Given the description of an element on the screen output the (x, y) to click on. 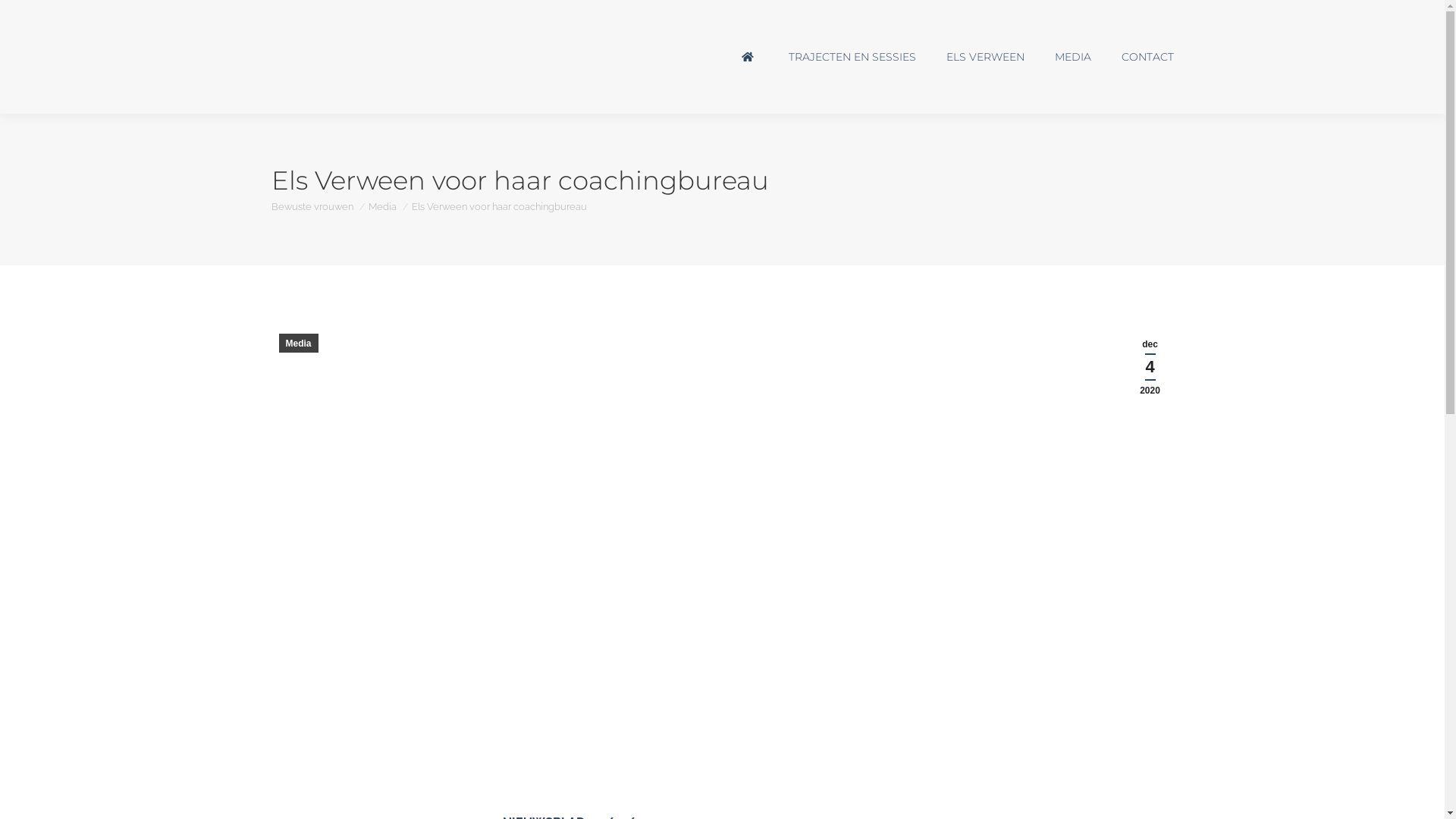
ELS VERWEEN Element type: text (985, 56)
MEDIA Element type: text (1072, 56)
dec
4
2020 Element type: text (1150, 367)
  Element type: text (748, 56)
Bewuste vrouwen Element type: text (312, 205)
TRAJECTEN EN SESSIES Element type: text (852, 56)
CONTACT Element type: text (1146, 56)
Media Element type: text (298, 342)
Media Element type: text (382, 205)
